Given the description of an element on the screen output the (x, y) to click on. 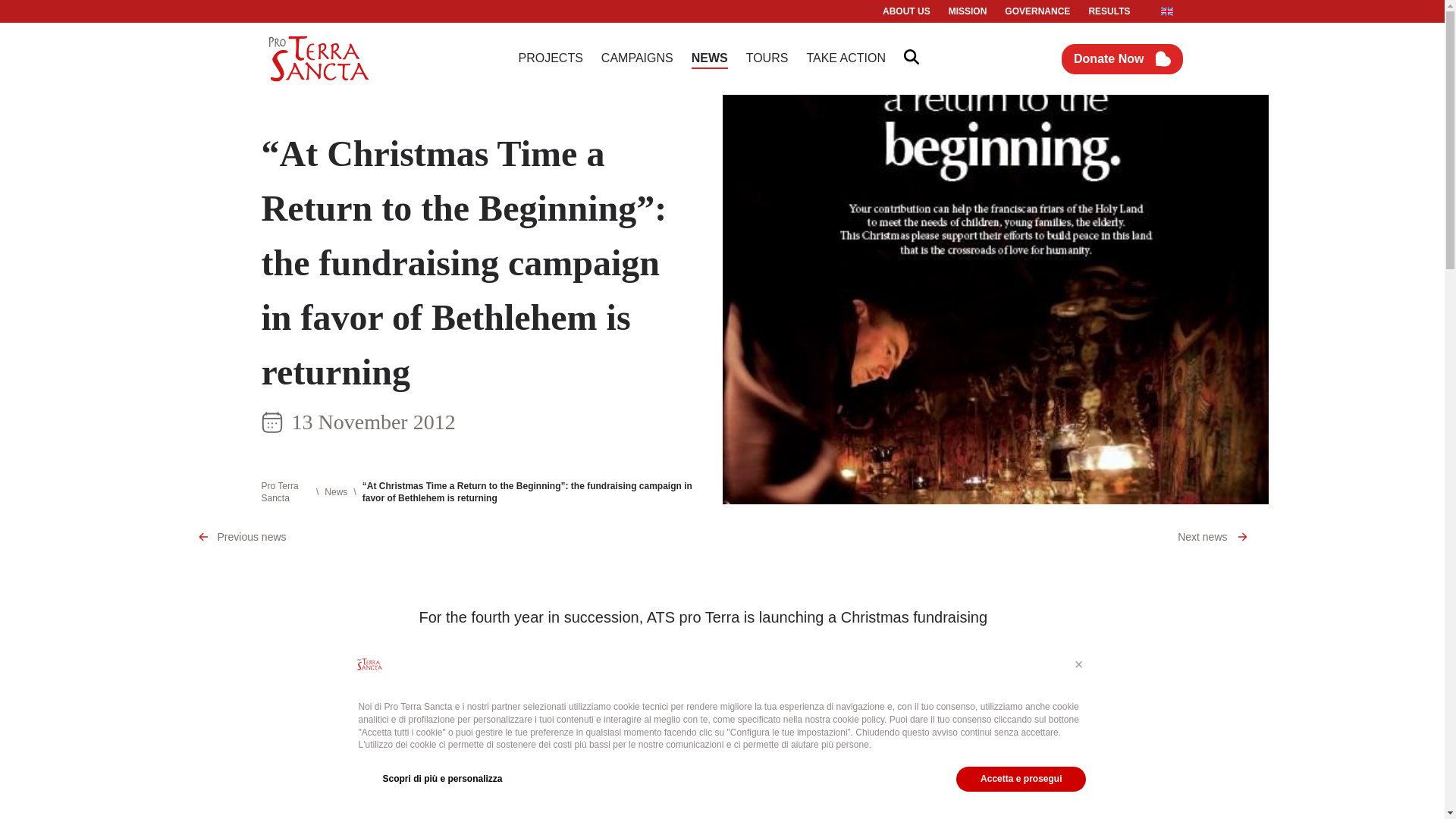
TAKE ACTION (845, 57)
NEWS (709, 57)
TOURS (767, 57)
CAMPAIGNS (636, 57)
MISSION (968, 10)
GOVERNANCE (1037, 10)
PROJECTS (550, 57)
ABOUT US (906, 10)
RESULTS (1108, 10)
